Given the description of an element on the screen output the (x, y) to click on. 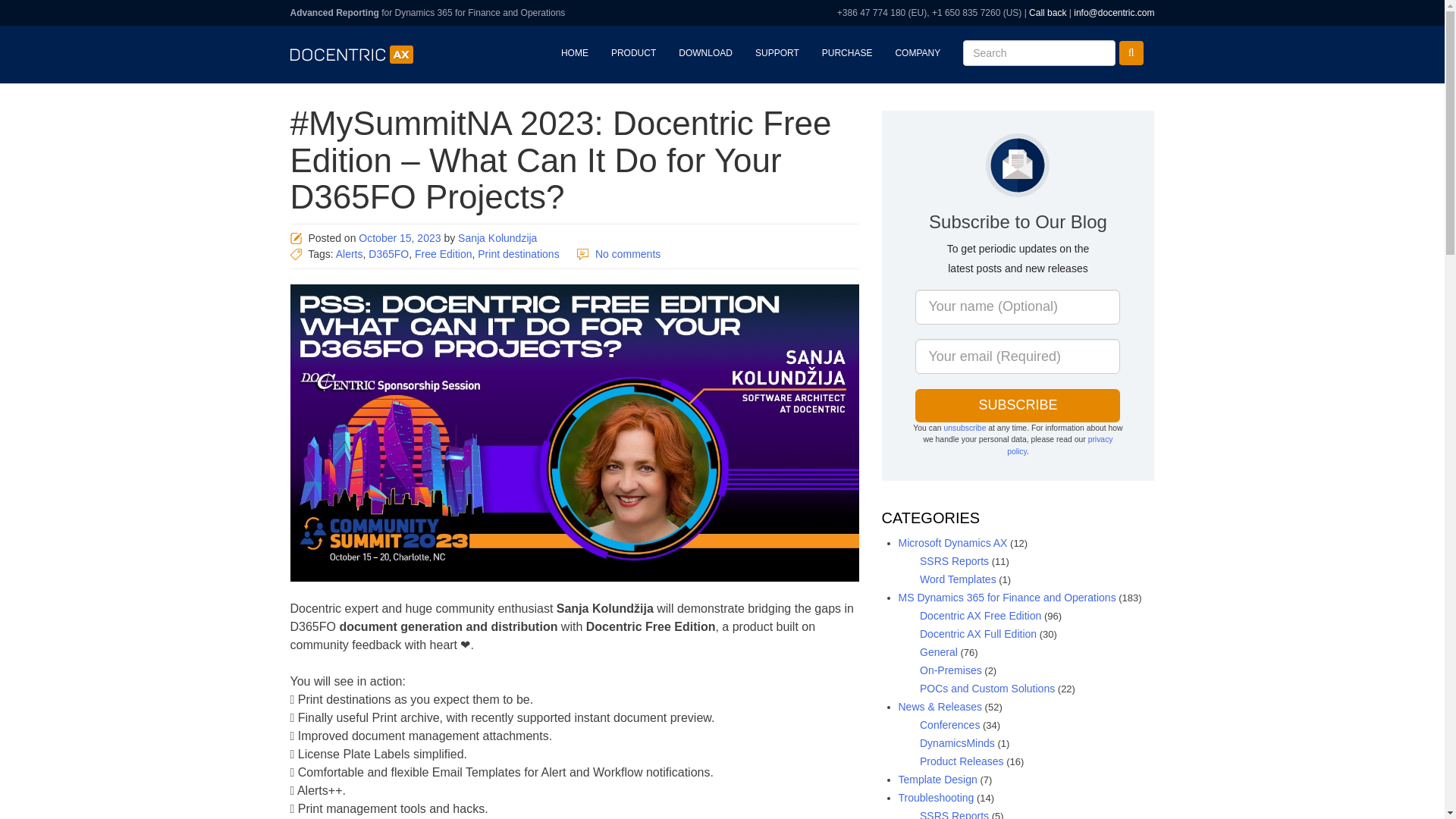
PURCHASE (846, 53)
Call back (1047, 12)
Subscribe (1017, 405)
SUPPORT (777, 53)
HOME (574, 53)
DOWNLOAD (705, 53)
PRODUCT (632, 53)
